Given the description of an element on the screen output the (x, y) to click on. 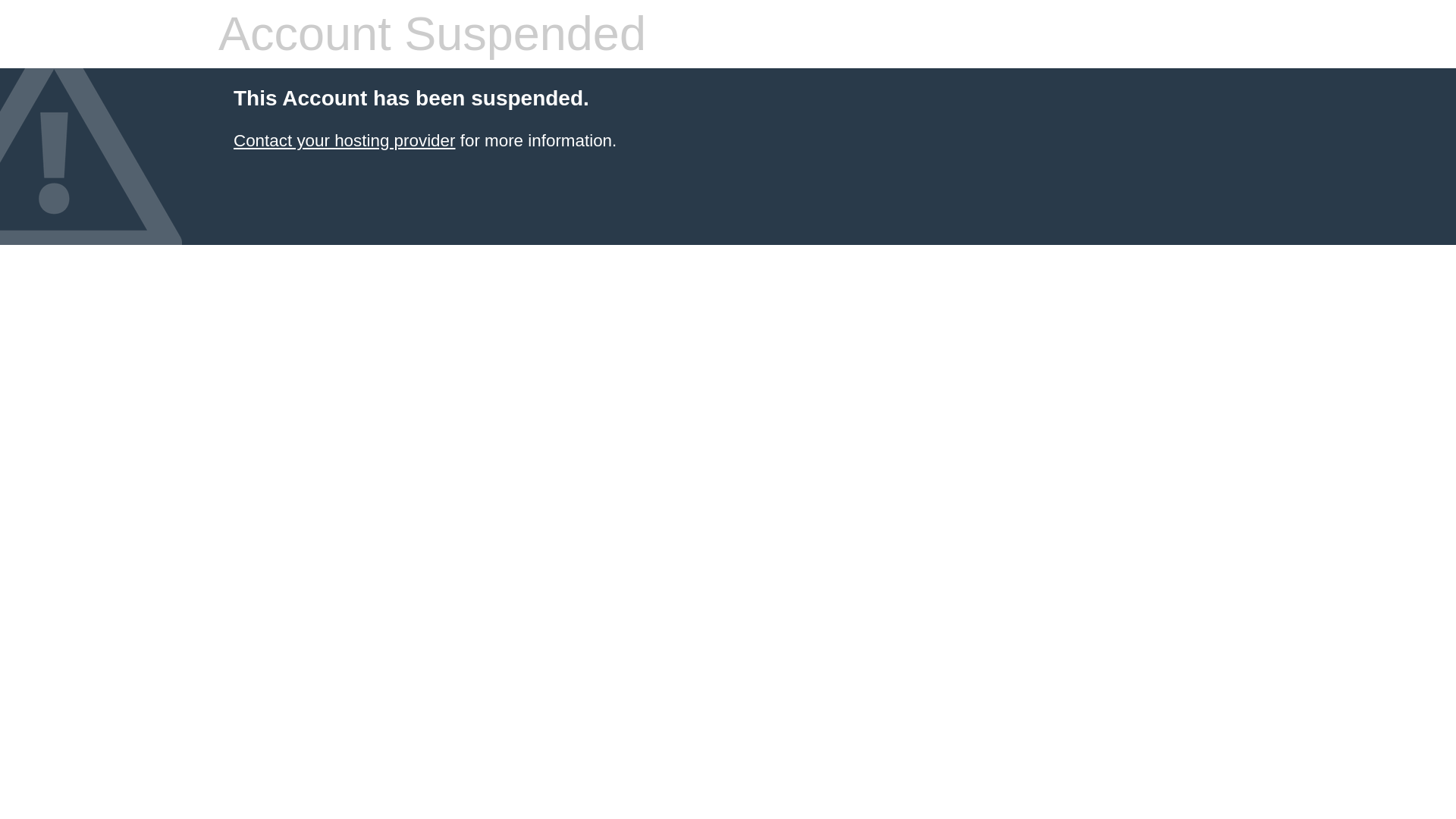
GreenGeeks LLC (343, 140)
Contact your hosting provider (343, 140)
